Given the description of an element on the screen output the (x, y) to click on. 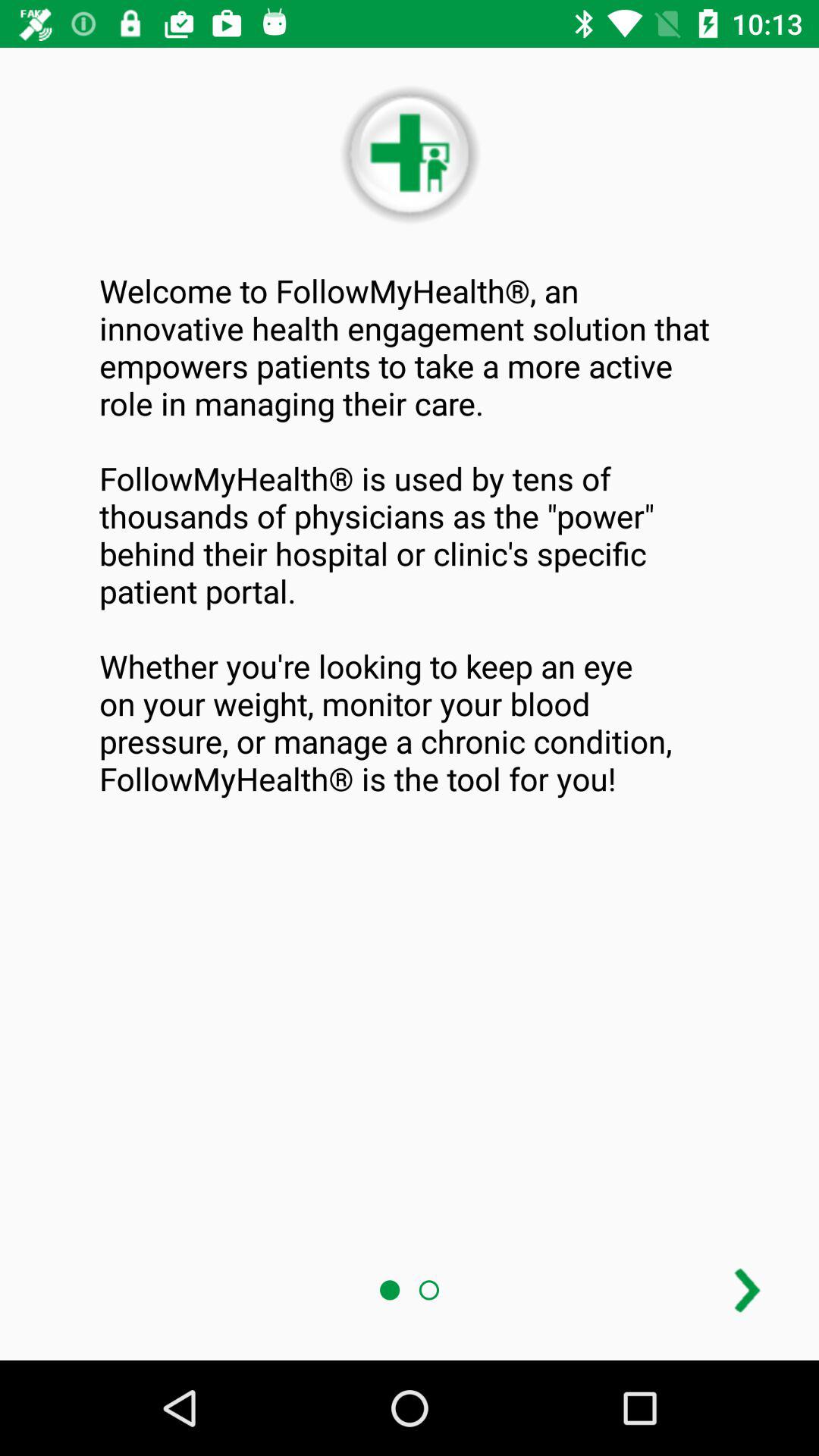
turn on icon below the welcome to followmyhealth item (747, 1290)
